Given the description of an element on the screen output the (x, y) to click on. 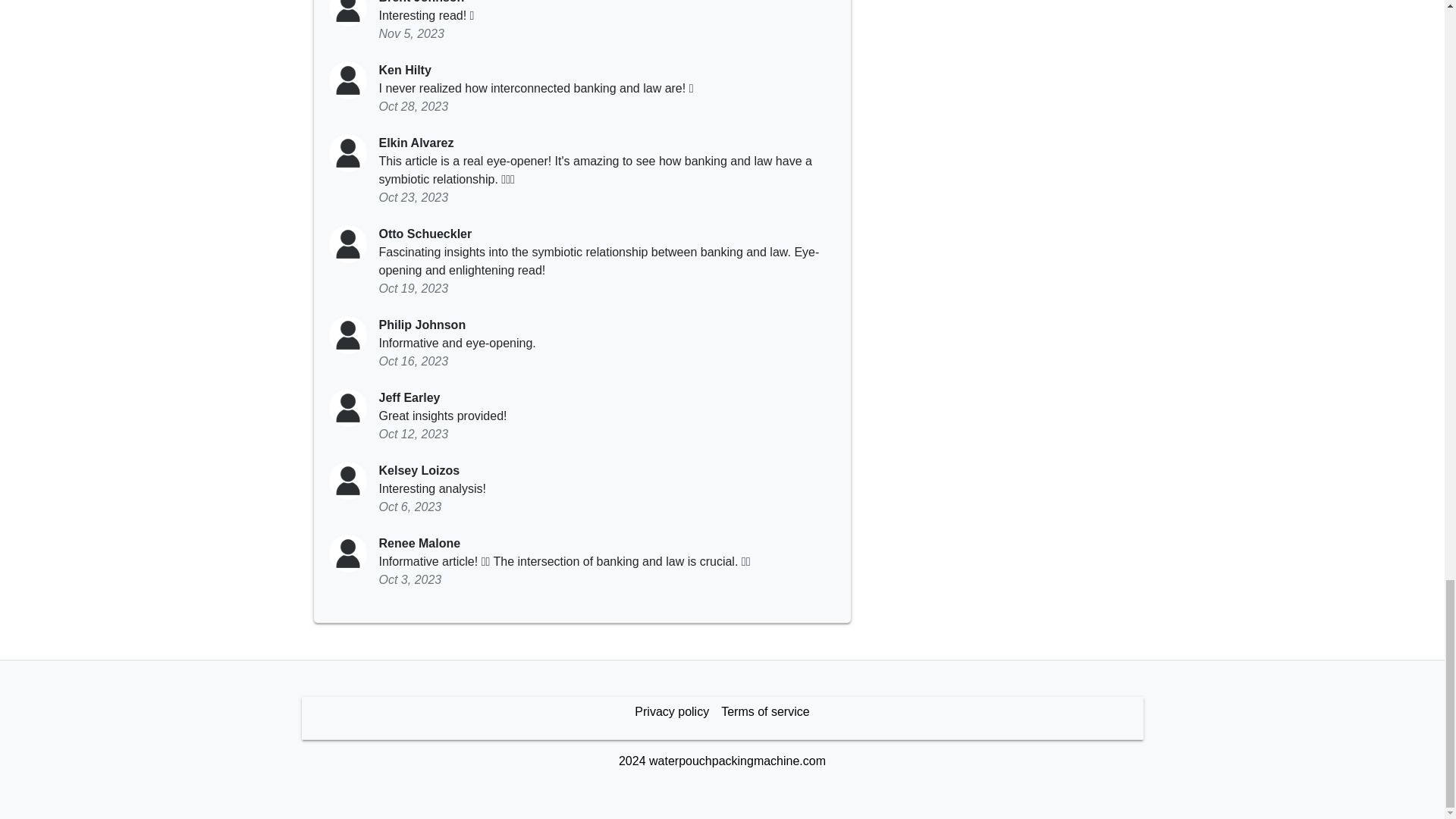
Terms of service (764, 711)
Privacy policy (671, 711)
